Given the description of an element on the screen output the (x, y) to click on. 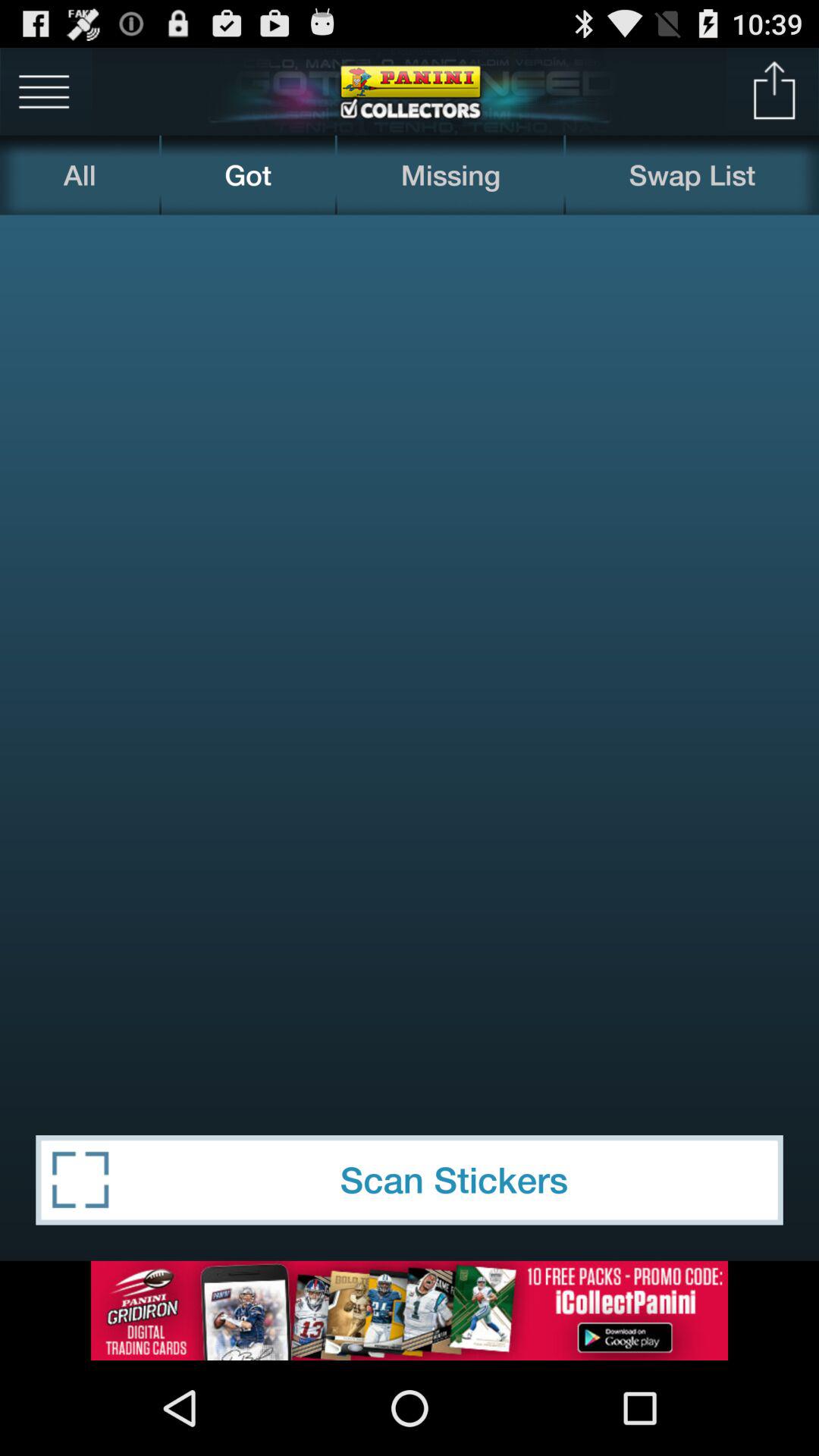
swipe to got icon (247, 174)
